Given the description of an element on the screen output the (x, y) to click on. 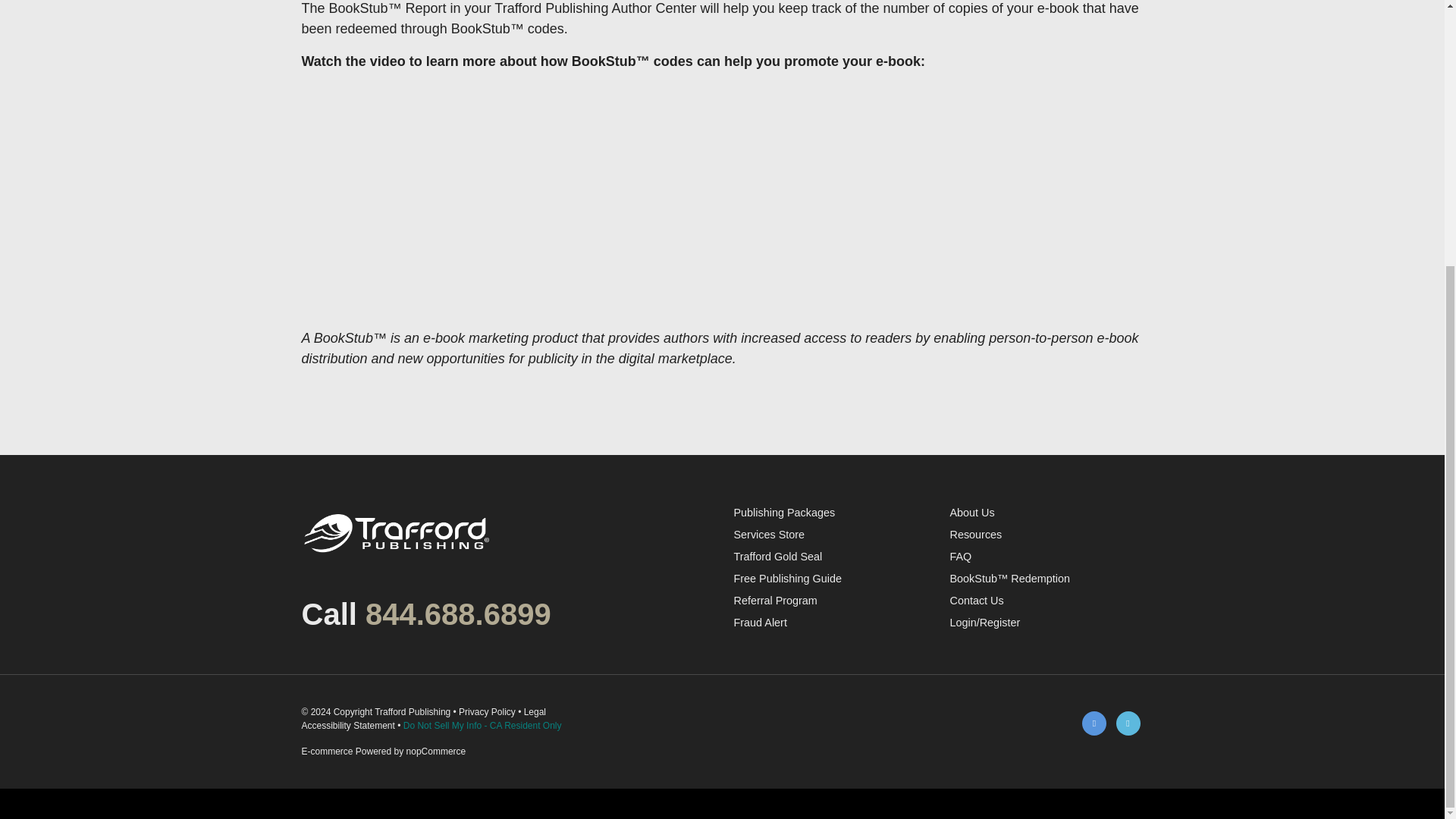
Contact Us (976, 600)
Privacy Policy (486, 711)
Services Store (769, 534)
Fraud Alert (760, 622)
Legal (535, 711)
Resources (975, 534)
Publishing Packages (784, 512)
Trafford Gold Seal (777, 556)
About Us (971, 512)
Do Not Sell My Info - CA Resident Only (482, 725)
FAQ (960, 556)
Free Publishing Guide (787, 578)
Accessibility Statement (347, 725)
Referral Program (774, 600)
